Given the description of an element on the screen output the (x, y) to click on. 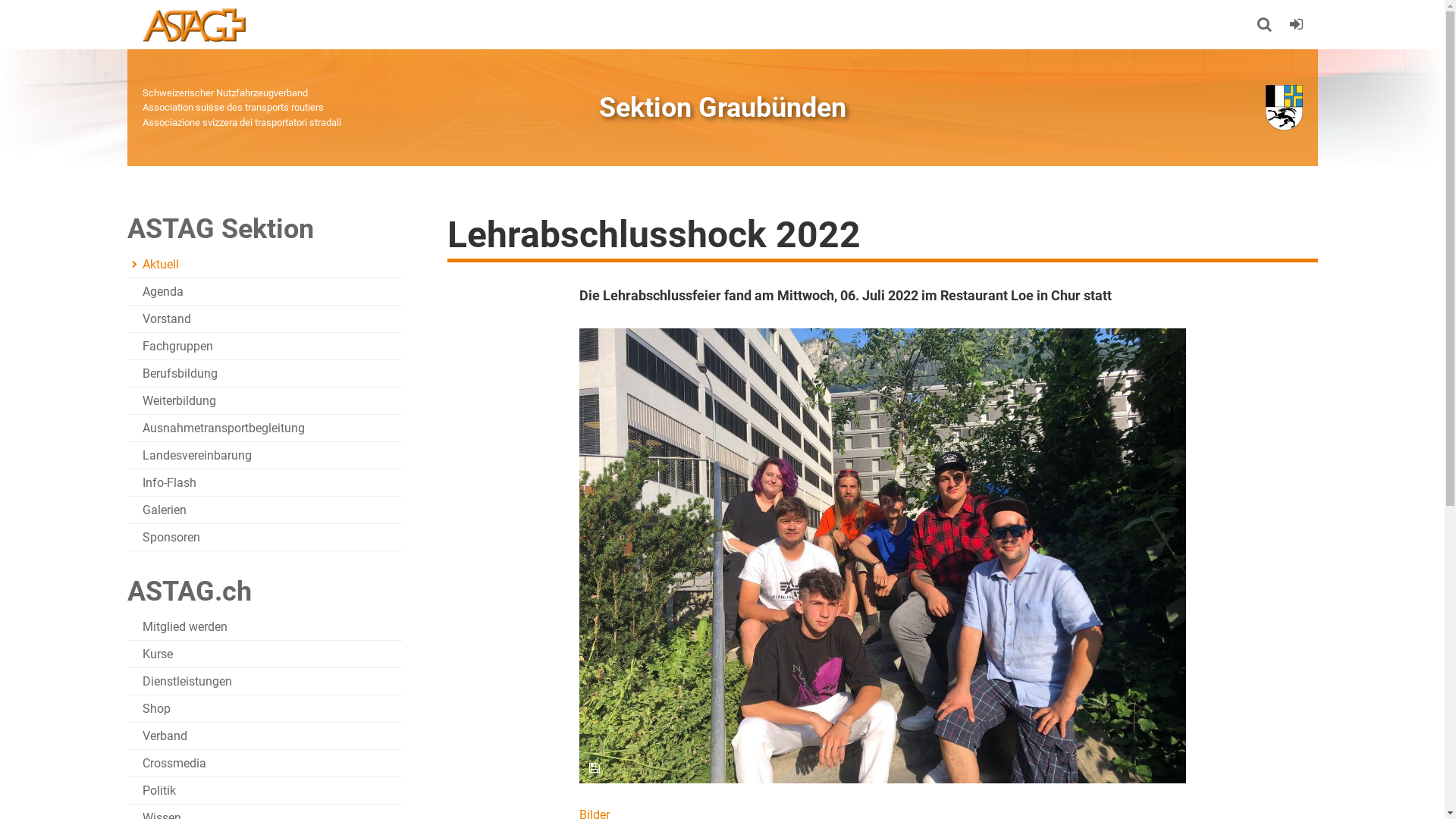
Shop Element type: text (264, 708)
Foto_4.JPG Element type: hover (882, 555)
Galerien Element type: text (264, 510)
Politik Element type: text (264, 790)
Ausnahmetransportbegleitung Element type: text (264, 428)
Agenda Element type: text (264, 291)
Sponsoren Element type: text (264, 537)
Kurse Element type: text (264, 654)
Berufsbildung Element type: text (264, 373)
Vorstand Element type: text (264, 318)
Mitglied werden Element type: text (264, 626)
Verband Element type: text (264, 735)
Aktuell Element type: text (264, 264)
Dienstleistungen Element type: text (264, 681)
Info-Flash Element type: text (264, 482)
Fachgruppen Element type: text (264, 346)
Weiterbildung Element type: text (264, 400)
Crossmedia Element type: text (264, 763)
Landesvereinbarung Element type: text (264, 455)
